Given the description of an element on the screen output the (x, y) to click on. 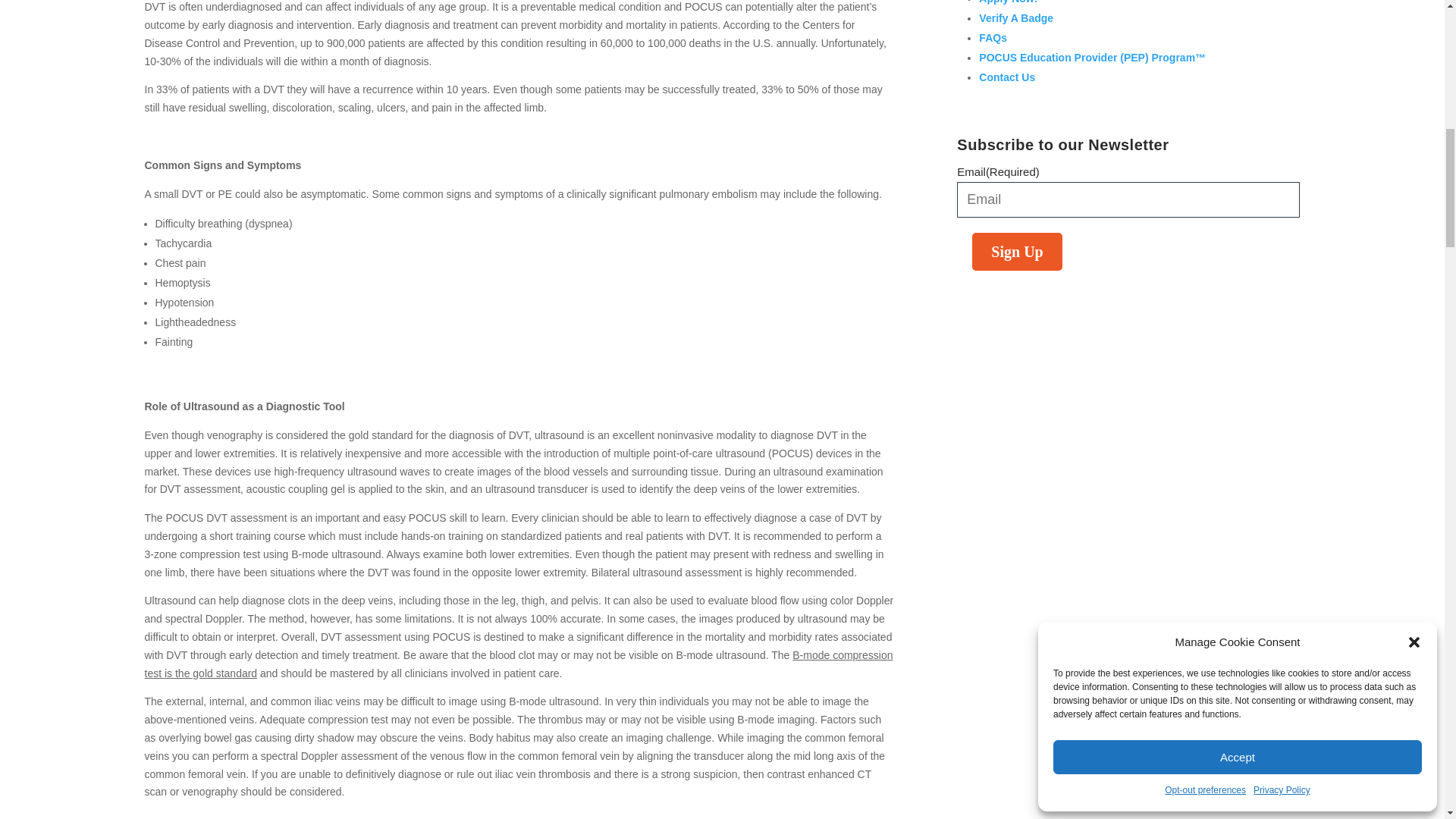
Sign Up (1016, 251)
